Given the description of an element on the screen output the (x, y) to click on. 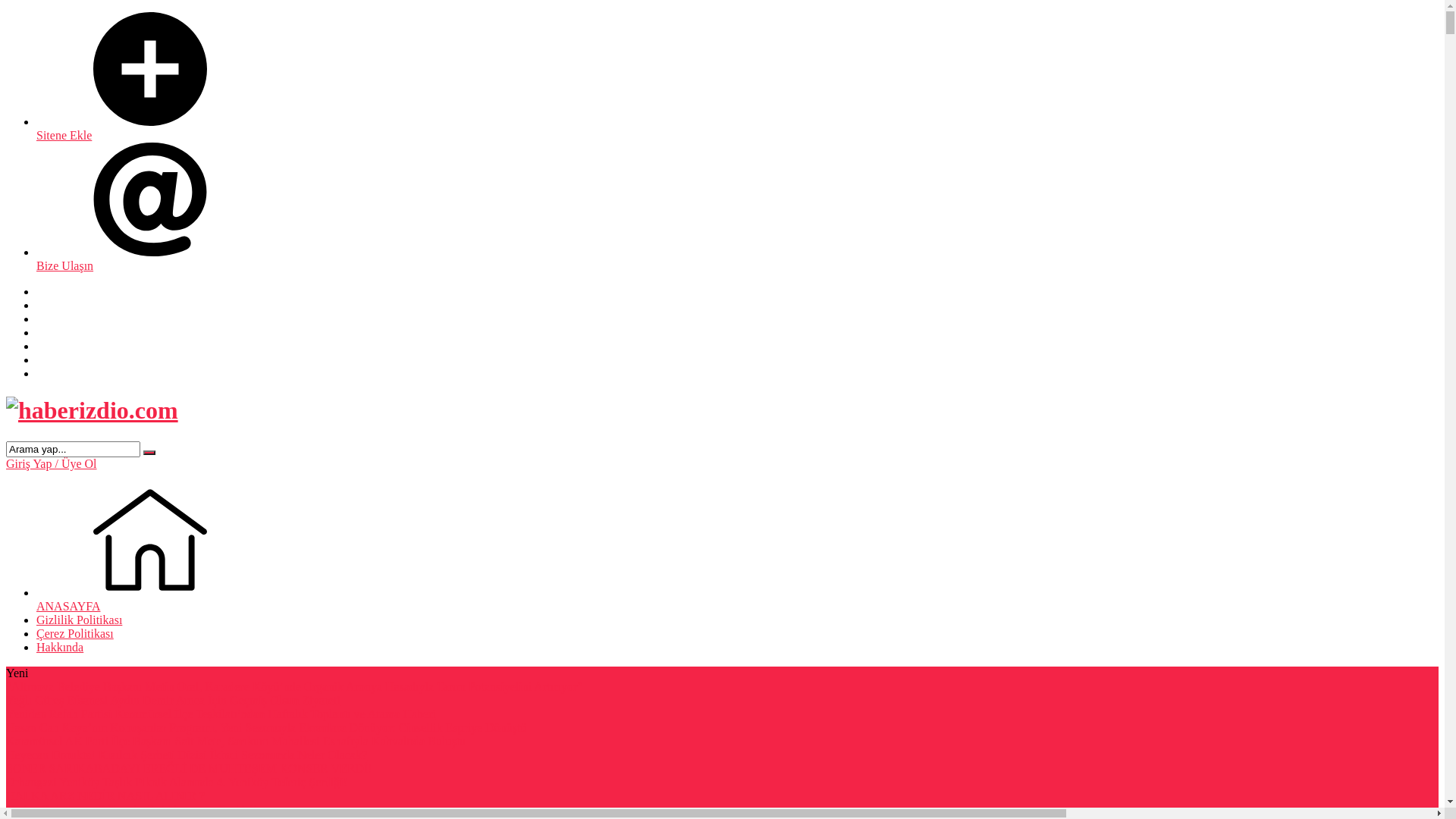
Sitene Ekle Element type: text (737, 128)
ANASAYFA Element type: text (737, 599)
haberizdio.com Element type: hover (92, 410)
